Given the description of an element on the screen output the (x, y) to click on. 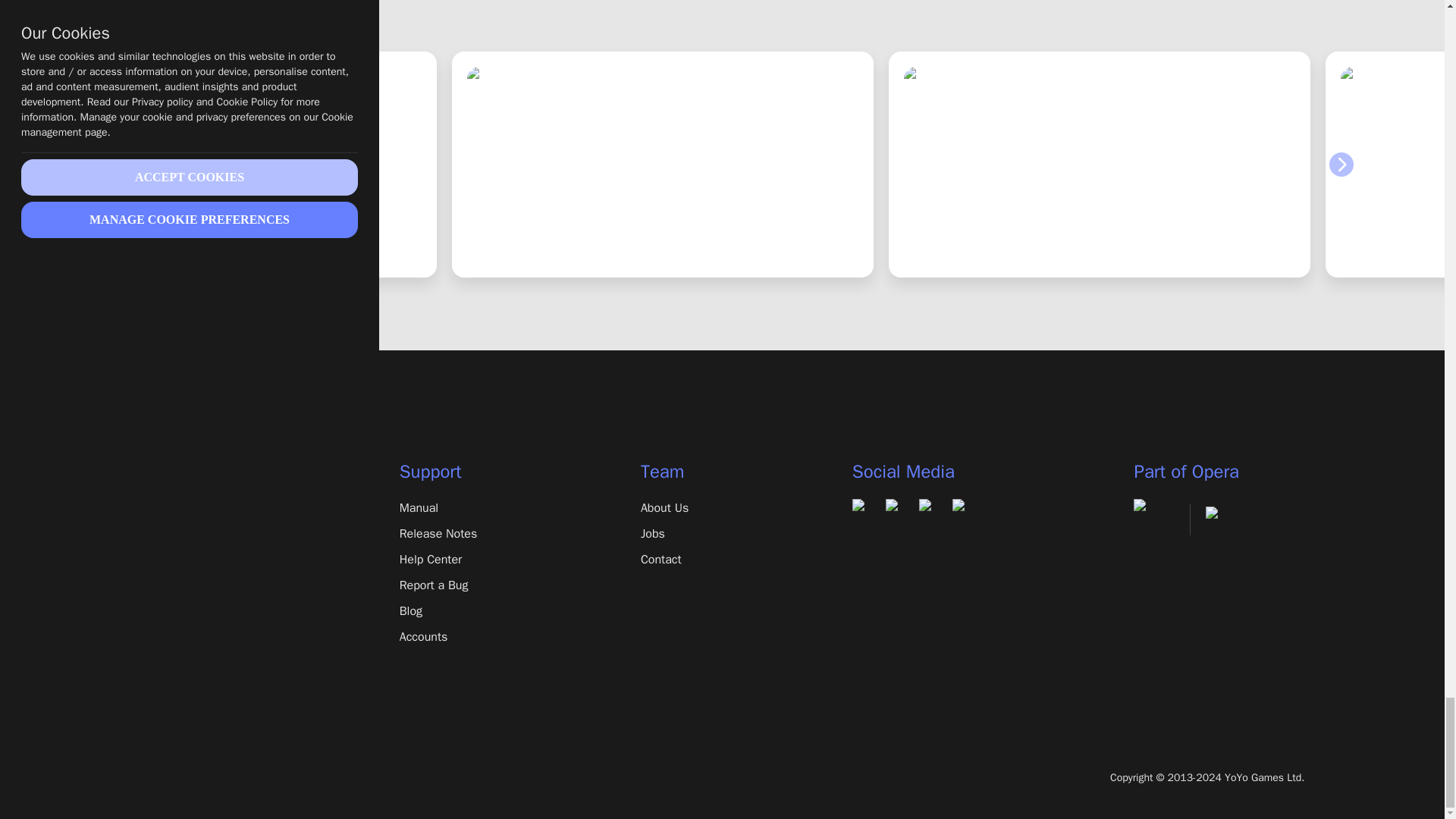
Features (187, 533)
Marketplace (187, 585)
Download (187, 507)
Asset Bundles (187, 610)
Pricing (187, 559)
